Given the description of an element on the screen output the (x, y) to click on. 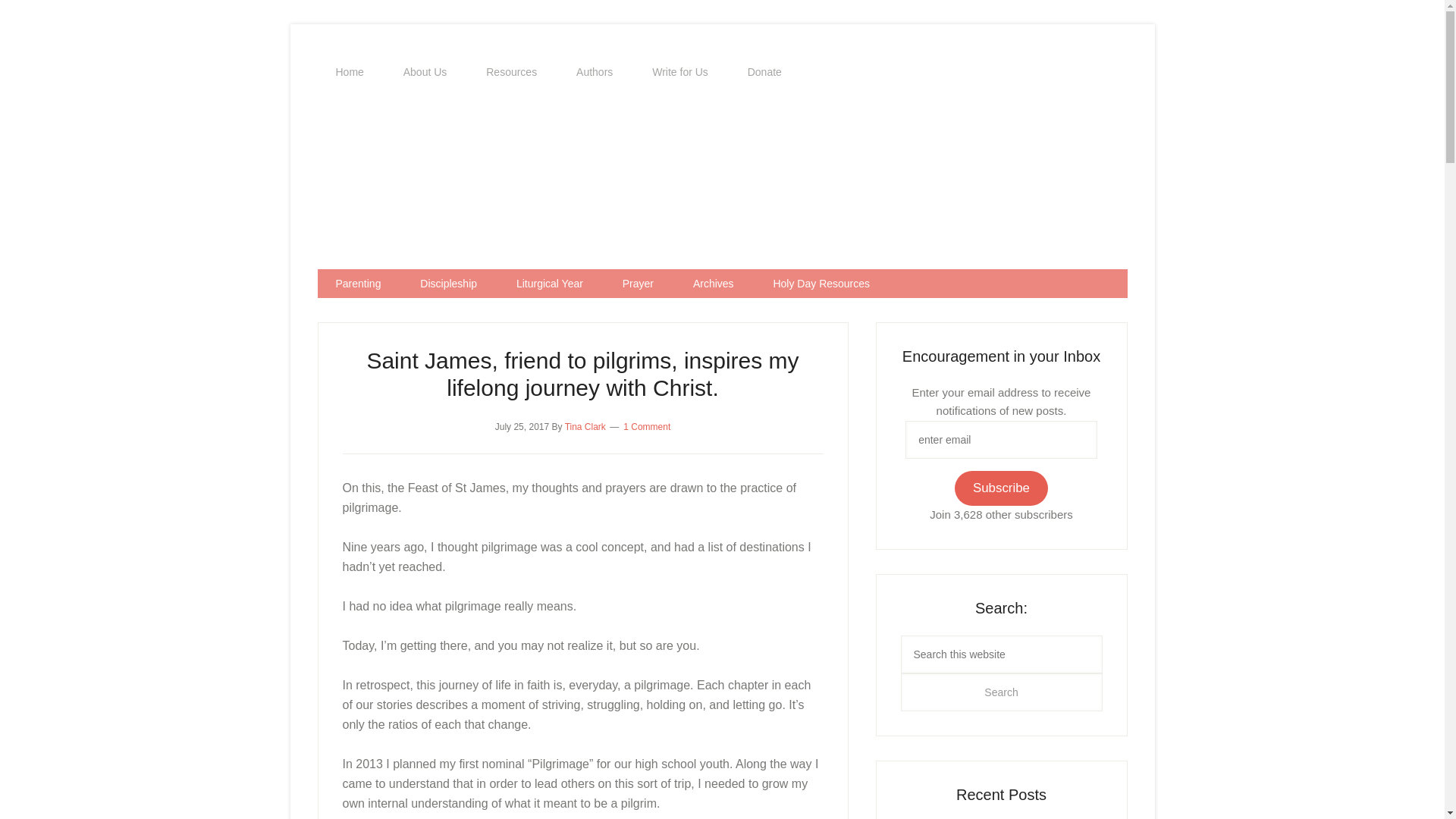
Resources (510, 71)
Archives (713, 283)
About Us (425, 71)
Prayer (637, 283)
Tina Clark (584, 426)
Home (349, 71)
Authors (593, 71)
Search (1001, 692)
Liturgical Year (549, 283)
Parenting (357, 283)
